Given the description of an element on the screen output the (x, y) to click on. 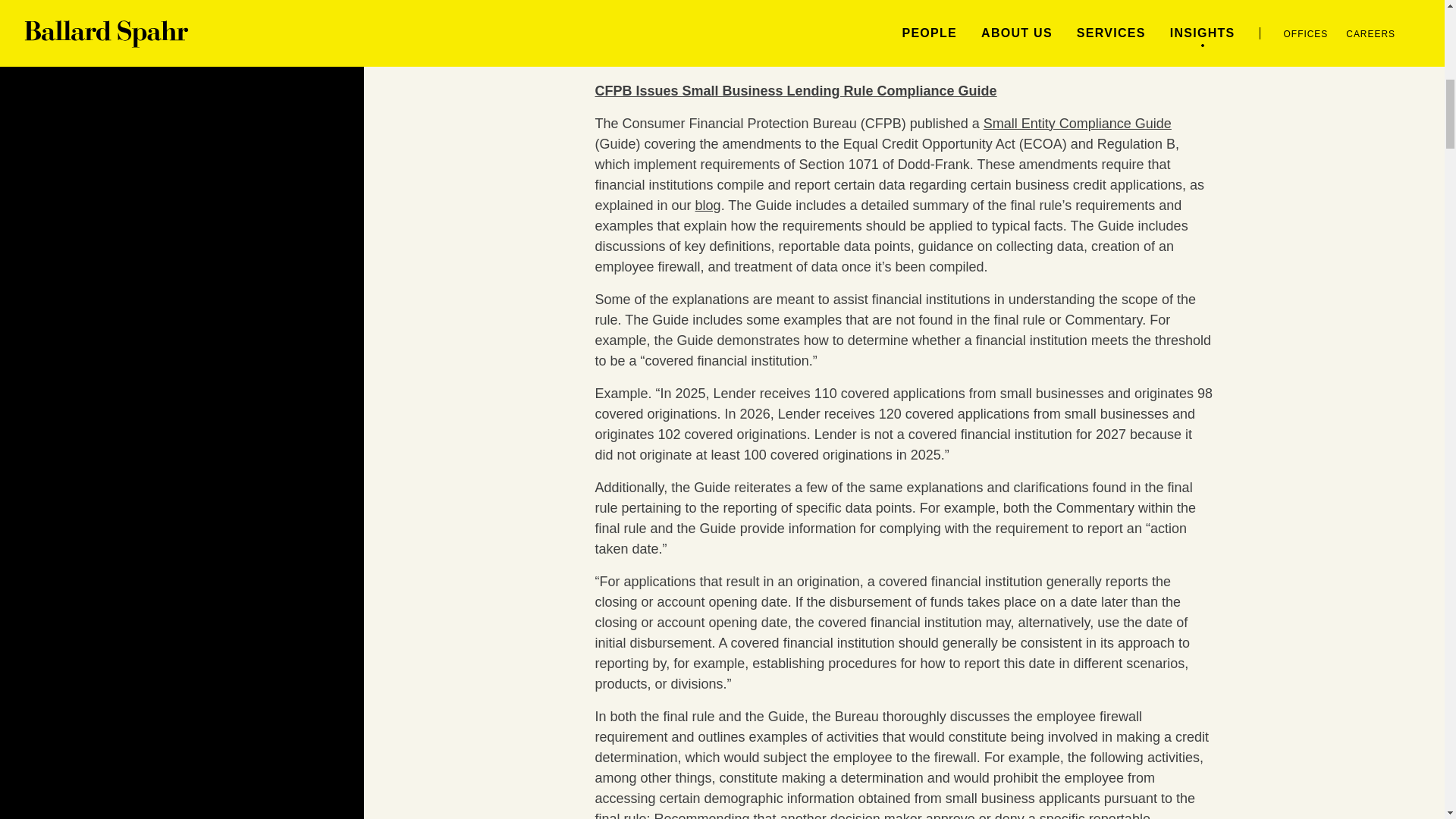
CFPB Issues Small Business Lending Rule Compliance Guide (794, 90)
Small Entity Compliance Guide (1078, 123)
blog (707, 205)
Looking Ahead (664, 25)
